Given the description of an element on the screen output the (x, y) to click on. 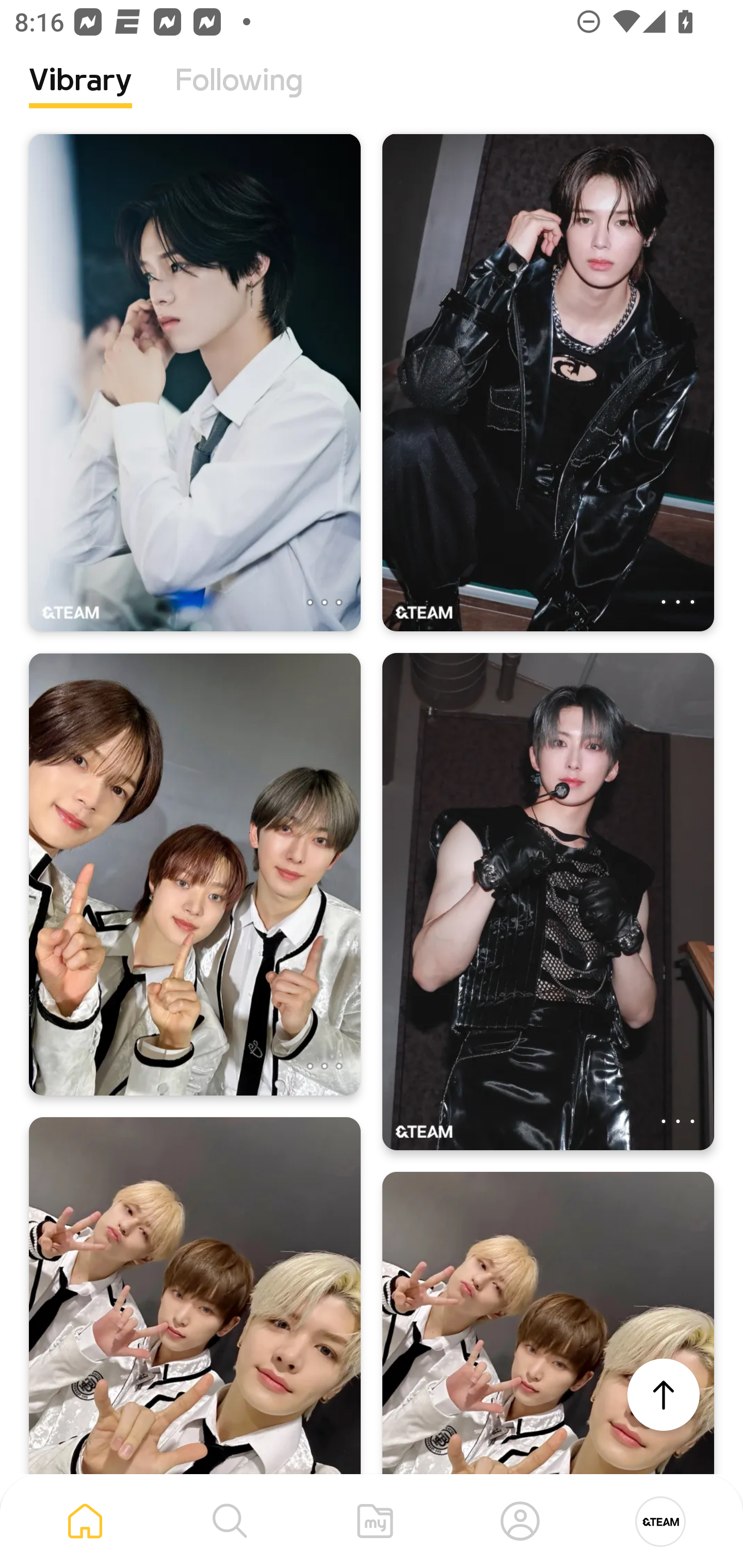
Vibrary (80, 95)
Following (239, 95)
